Given the description of an element on the screen output the (x, y) to click on. 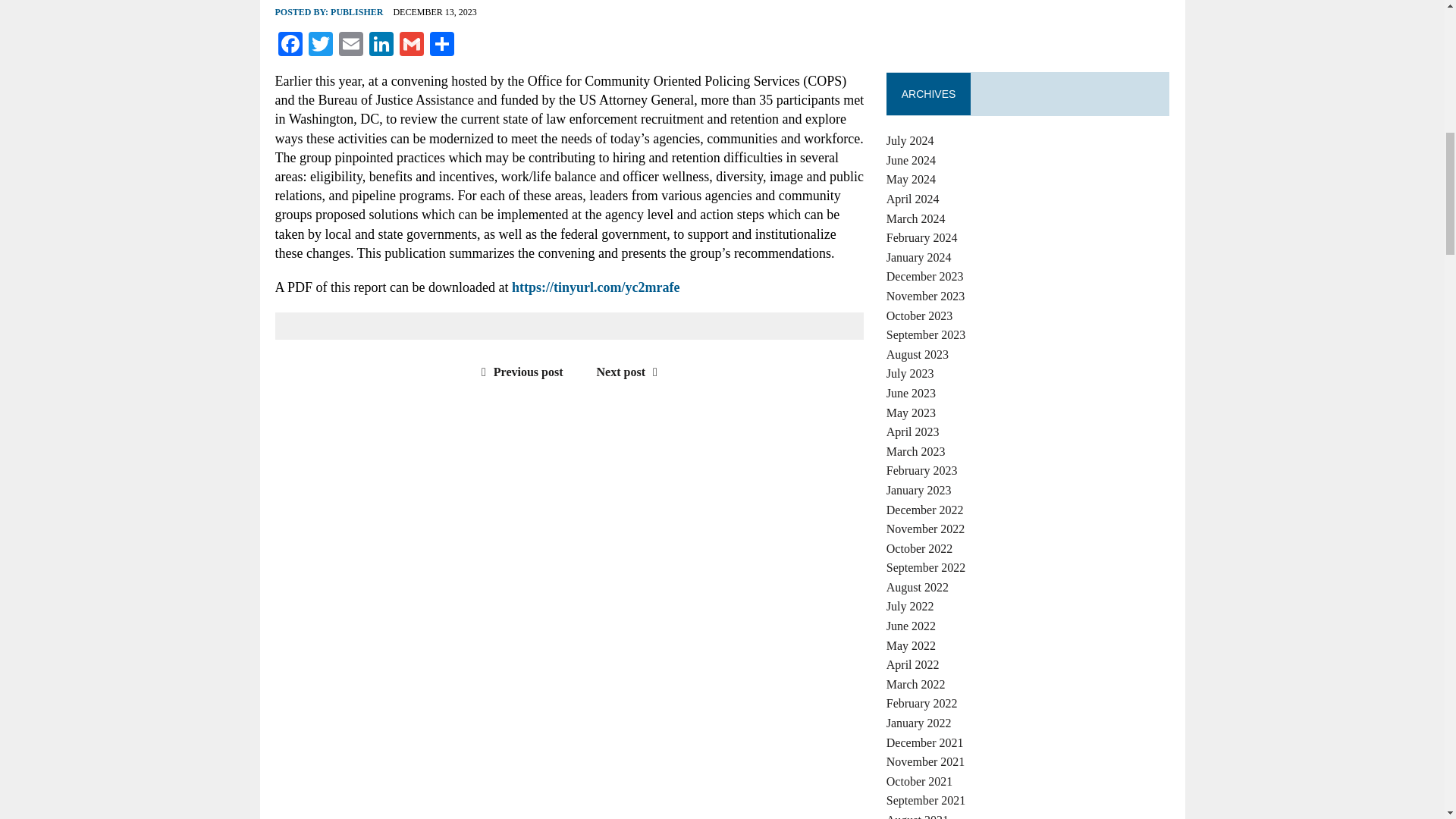
LinkedIn (380, 45)
Twitter (319, 45)
Gmail (411, 45)
Facebook (289, 45)
Email (349, 45)
